Given the description of an element on the screen output the (x, y) to click on. 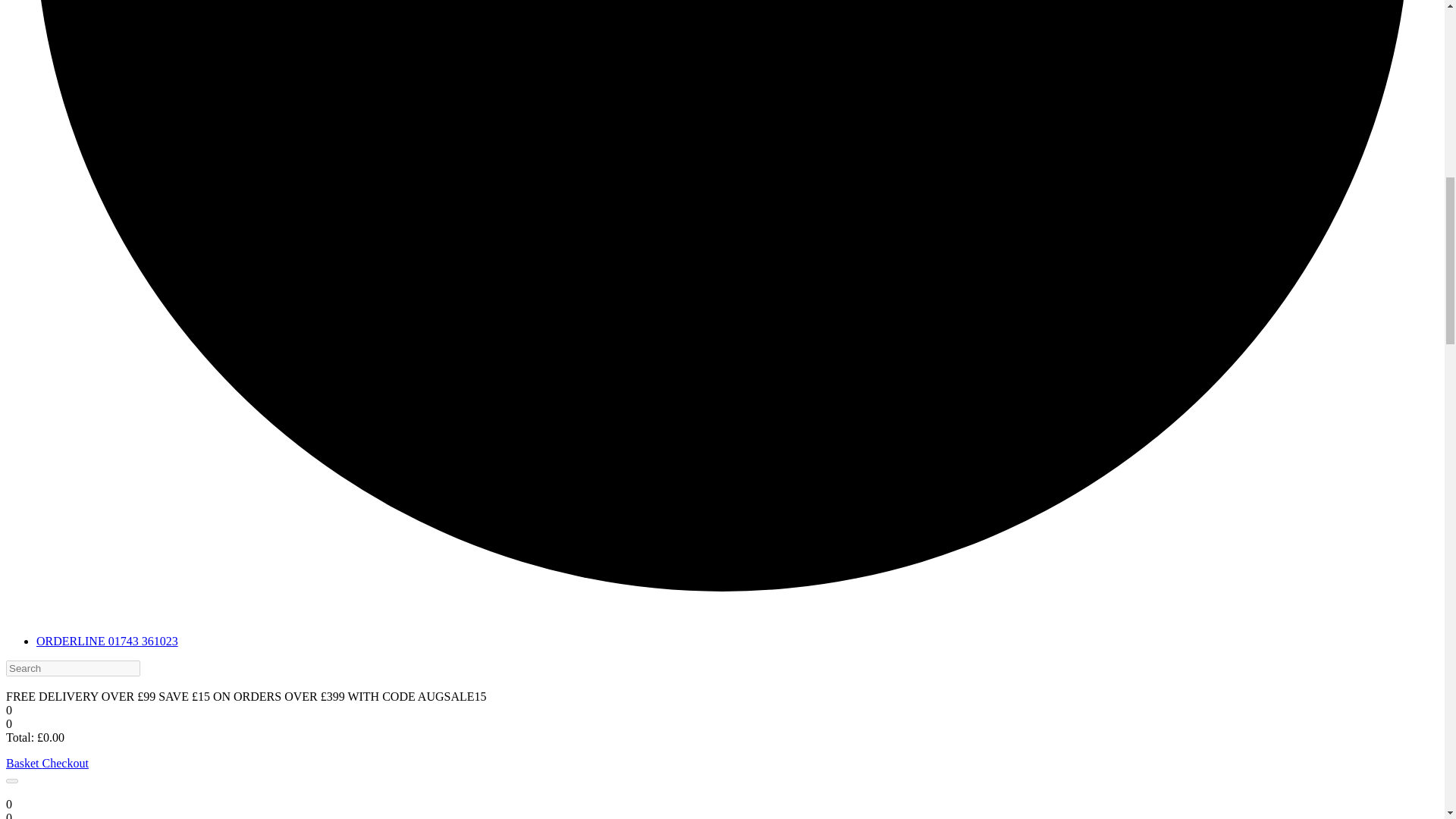
Checkout (65, 762)
Basket (23, 762)
ORDERLINE 01743 361023 (106, 640)
